Given the description of an element on the screen output the (x, y) to click on. 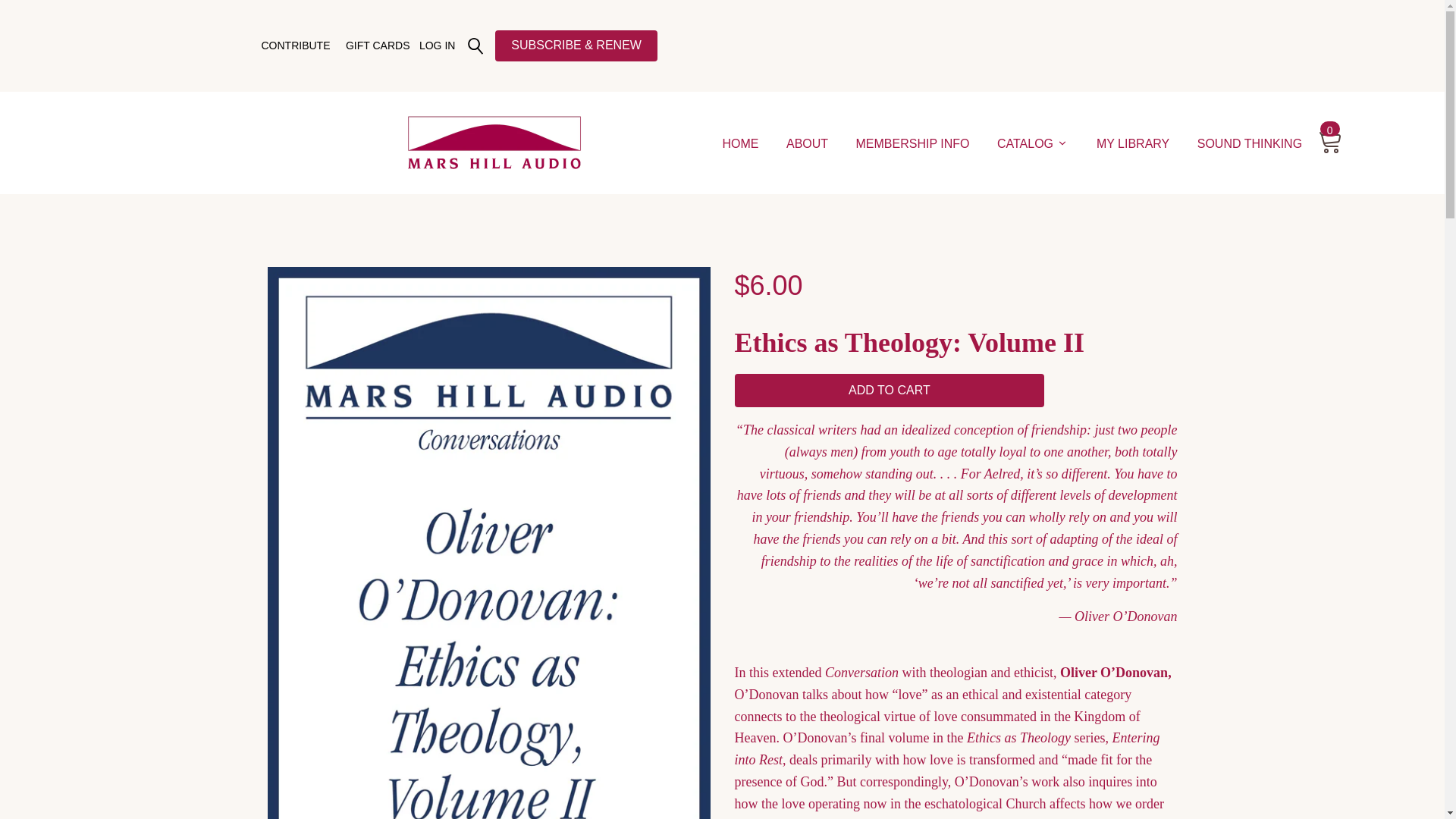
CATALOG (1033, 143)
CONTRIBUTE (295, 45)
ABOUT (807, 143)
0 (1329, 134)
MY LIBRARY (1132, 143)
MEMBERSHIP INFO (912, 143)
SOUND THINKING (1249, 143)
HOME (740, 143)
LOG IN (436, 45)
GIFT CARDS (377, 45)
